Given the description of an element on the screen output the (x, y) to click on. 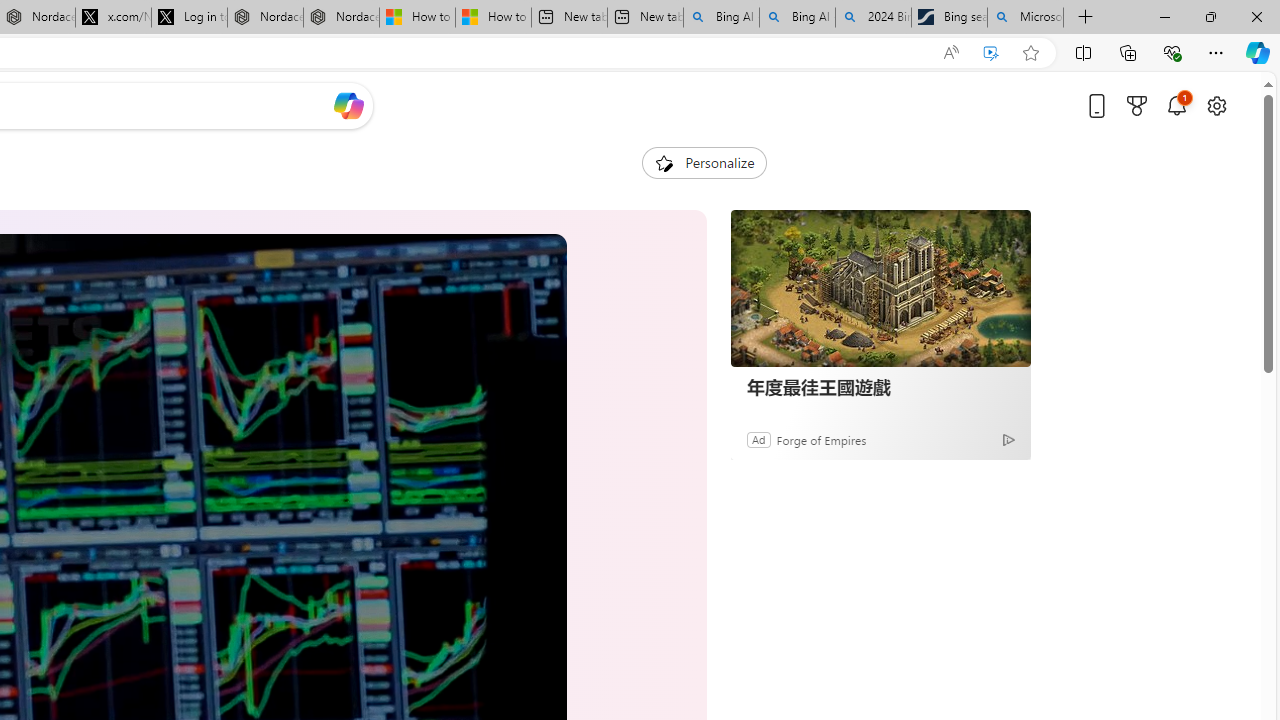
Enhance video (991, 53)
x.com/NordaceOfficial (113, 17)
Restore (1210, 16)
Log in to X / X (189, 17)
Personalize (703, 162)
Bing search market share worldwide 2024 | Statista (948, 17)
How to Use a Monitor With Your Closed Laptop (493, 17)
Collections (1128, 52)
Open Copilot (347, 105)
Forge of Empires (820, 439)
Bing AI - Search (797, 17)
Browser essentials (1171, 52)
To get missing image descriptions, open the context menu. (664, 162)
